Given the description of an element on the screen output the (x, y) to click on. 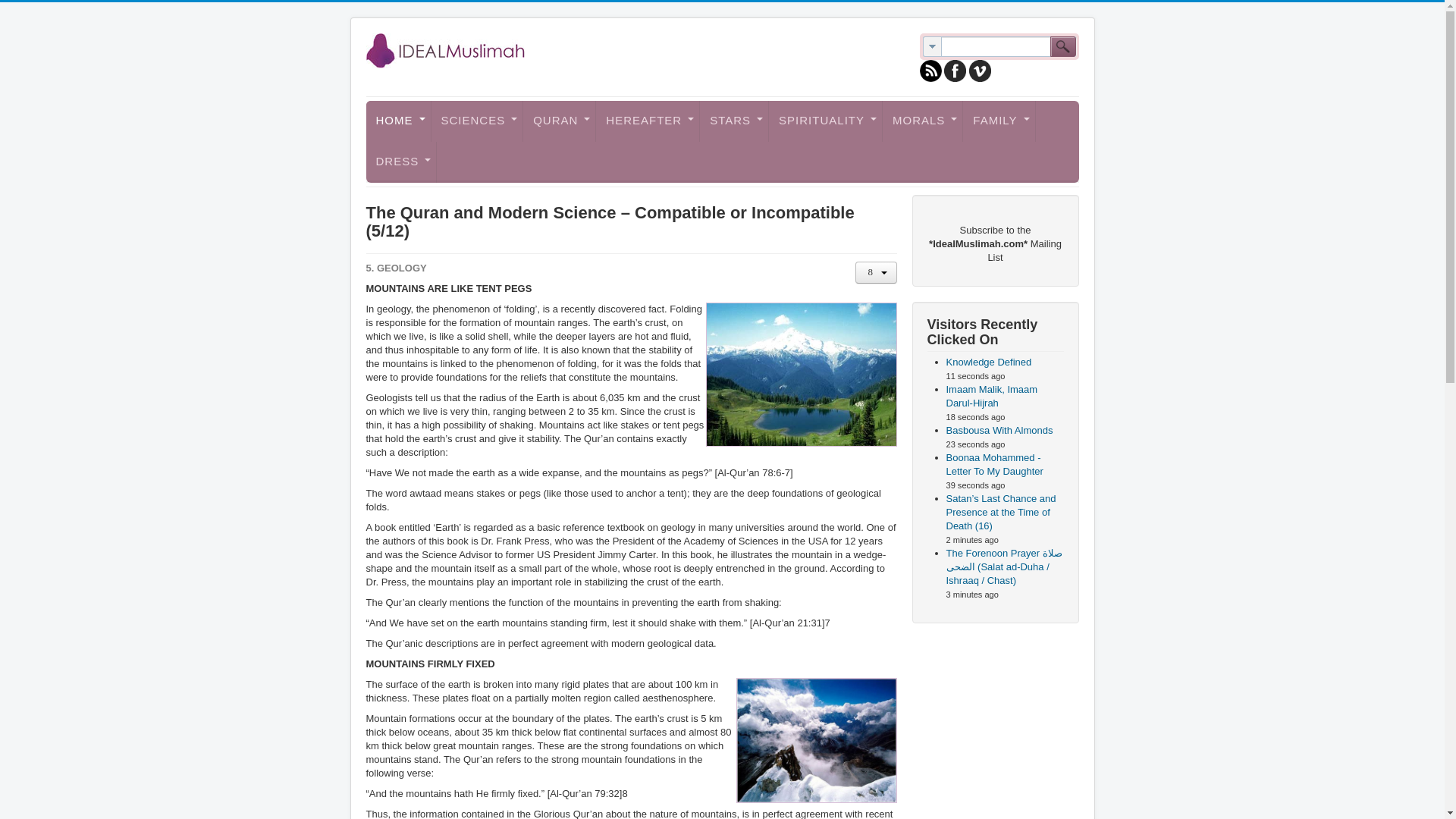
QURAN (558, 120)
HOME (397, 120)
STARS (734, 120)
SPIRITUALITY (825, 120)
SCIENCES (476, 120)
HEREAFTER (647, 120)
